Given the description of an element on the screen output the (x, y) to click on. 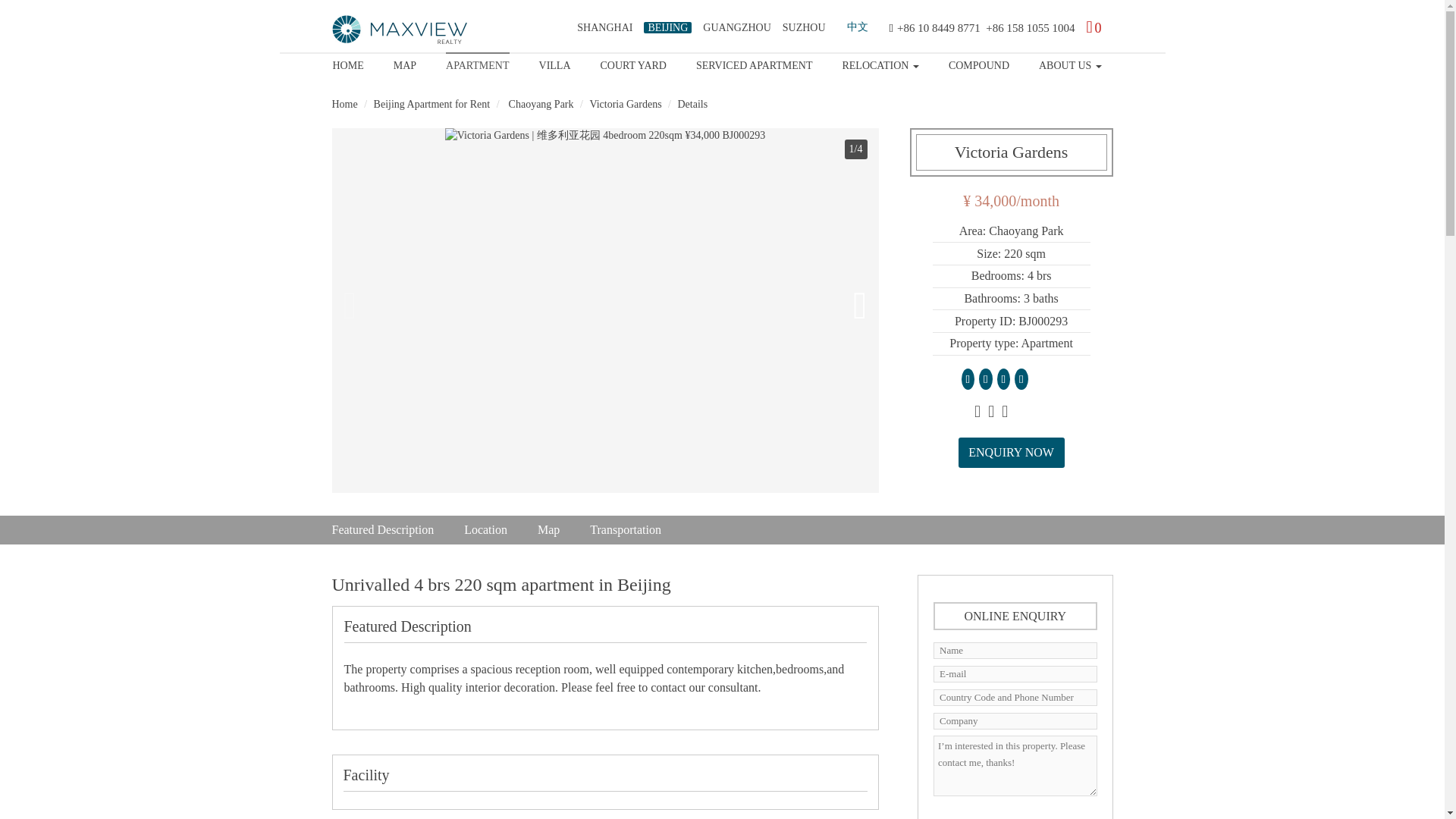
LOGO MAX (399, 29)
Home (346, 62)
Guangzhou (736, 27)
Serviced apartments (753, 62)
ABOUT US (1070, 62)
Villas (554, 62)
ENQUIRY NOW (1011, 452)
Apartments (476, 62)
APARTMENT (476, 62)
Home (399, 28)
Chaoyang Park (539, 103)
MAP (404, 62)
HOME (346, 62)
COMPOUND (979, 62)
Property map (404, 62)
